Given the description of an element on the screen output the (x, y) to click on. 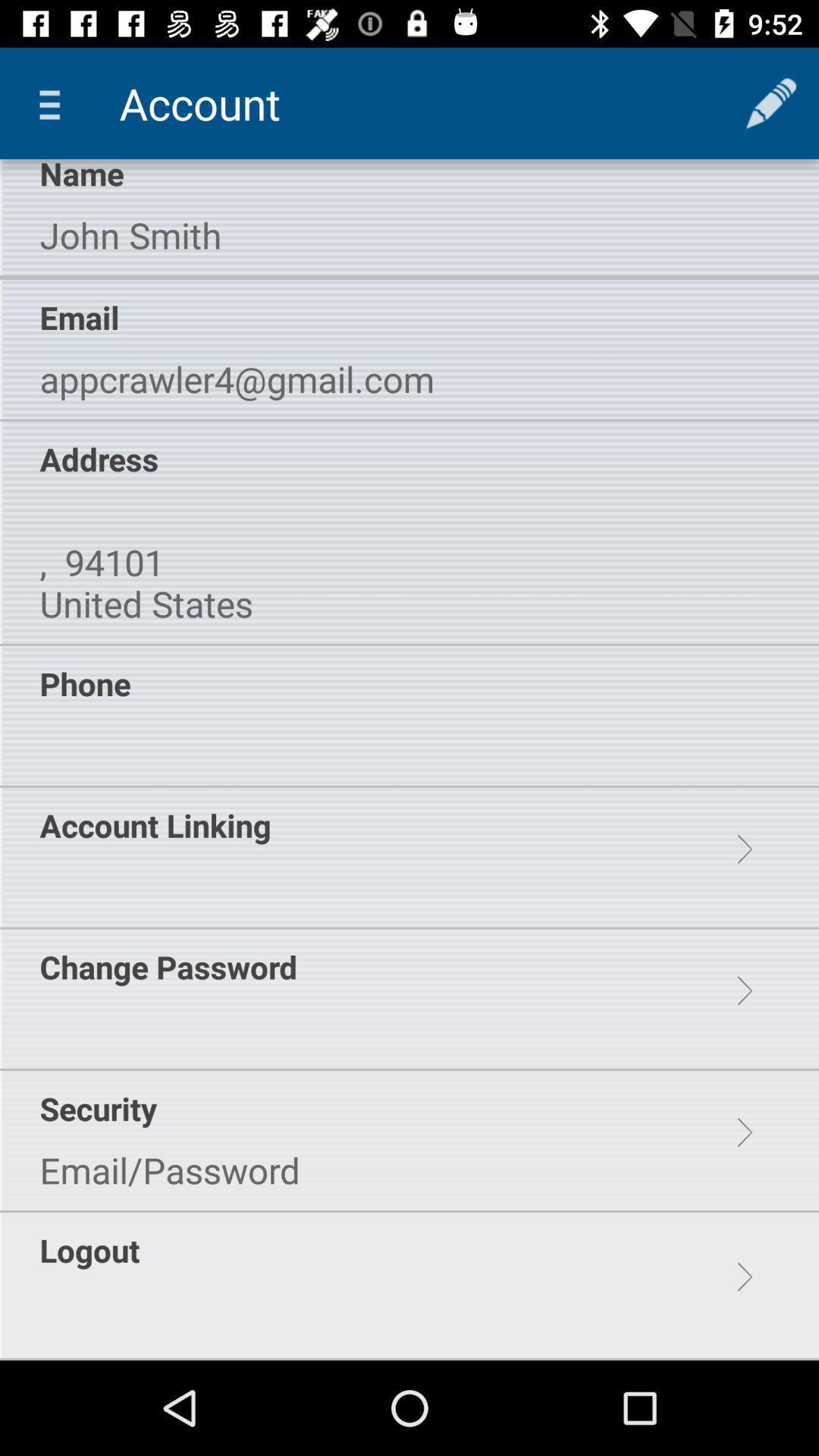
swipe to change password (168, 966)
